Given the description of an element on the screen output the (x, y) to click on. 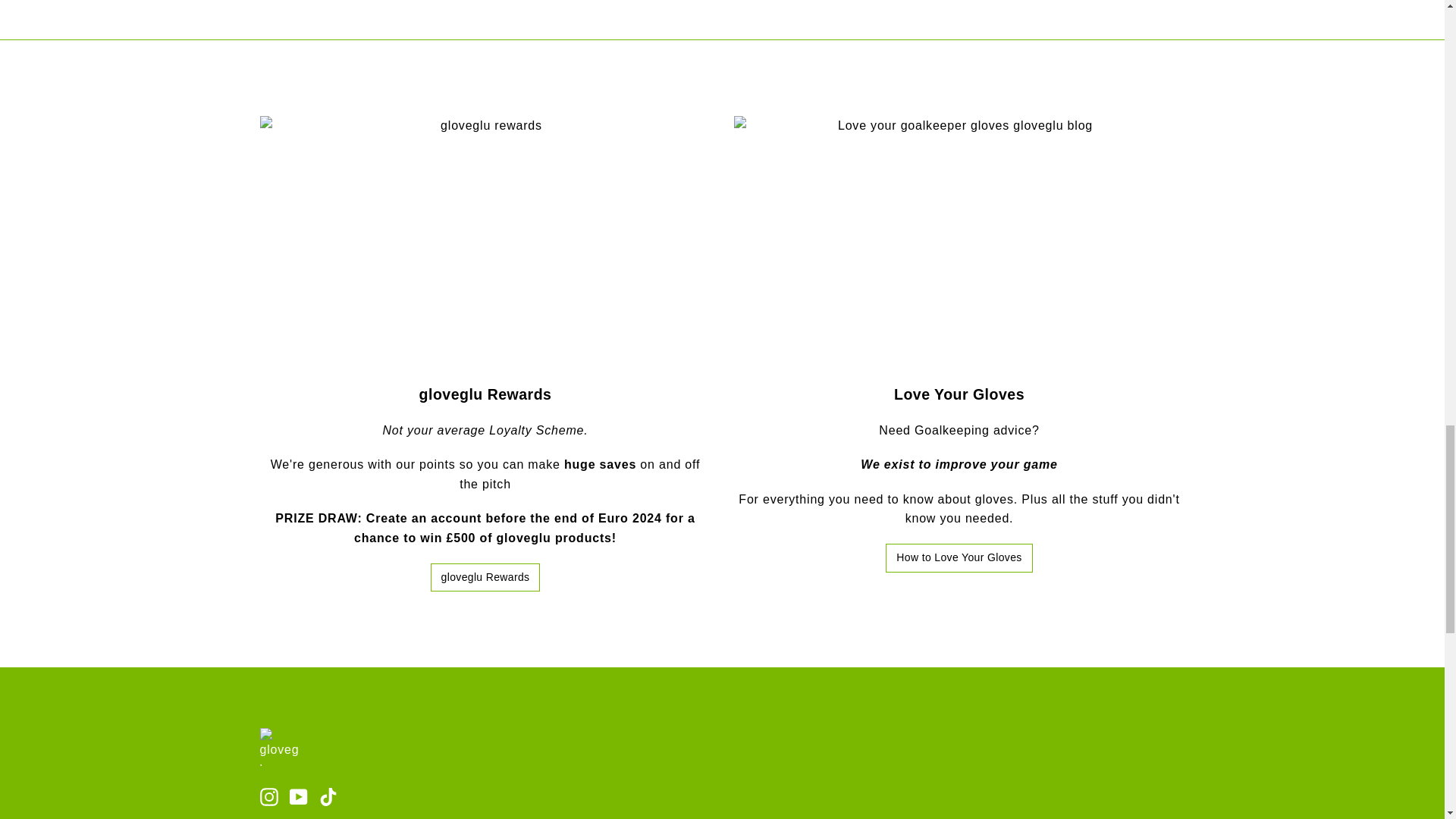
instagram (268, 796)
gloveglu auf YouTube (298, 795)
gloveglu auf Instagram (268, 795)
gloveglu auf TikTok (327, 795)
